Given the description of an element on the screen output the (x, y) to click on. 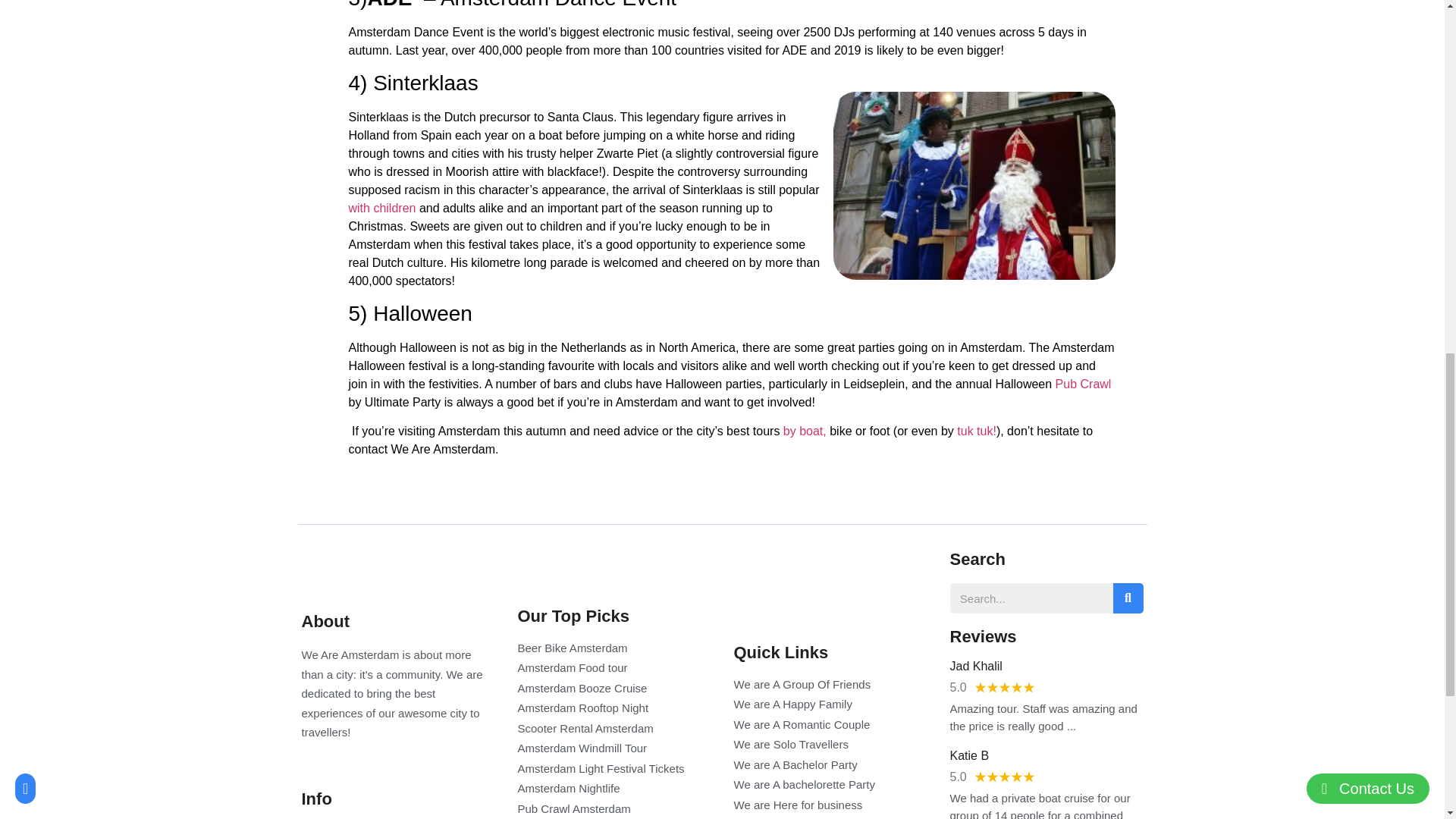
Pub Crawl (1083, 383)
Beer Bike Amsterdam (613, 648)
Amsterdam Rooftop Night (613, 708)
by boat, (805, 431)
Amsterdam Food tour (613, 668)
Amsterdam Windmill Tour (613, 748)
Scooter Rental Amsterdam (613, 728)
Pub Crawl Amsterdam (613, 809)
Amsterdam Booze Cruise (613, 688)
Amsterdam Nightlife (613, 788)
tuk tuk! (975, 431)
Amsterdam Light Festival Tickets (613, 769)
with children (382, 207)
